Given the description of an element on the screen output the (x, y) to click on. 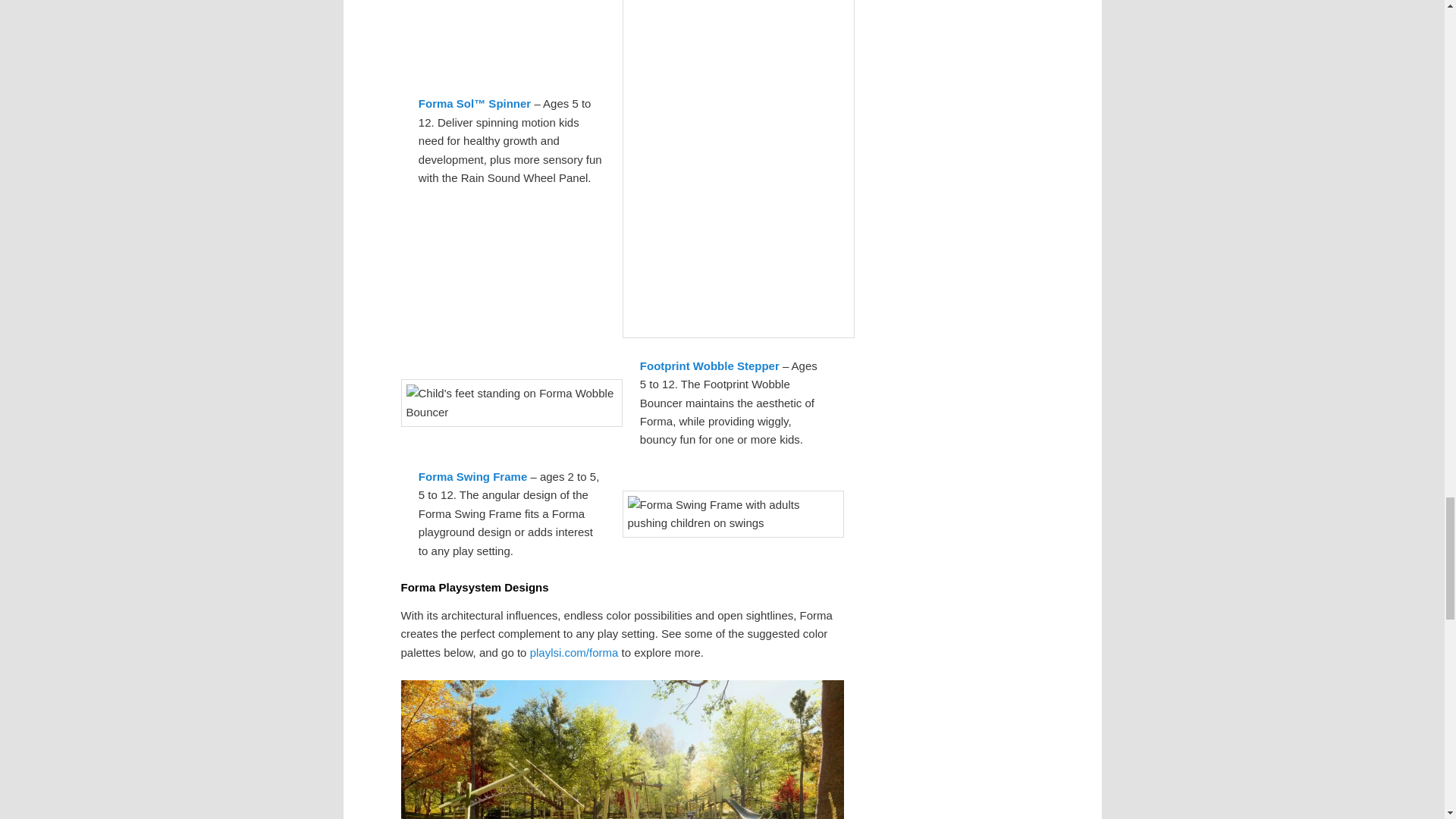
Footprint Wobble Stepper (709, 365)
Forma Swing Frame (473, 476)
